Given the description of an element on the screen output the (x, y) to click on. 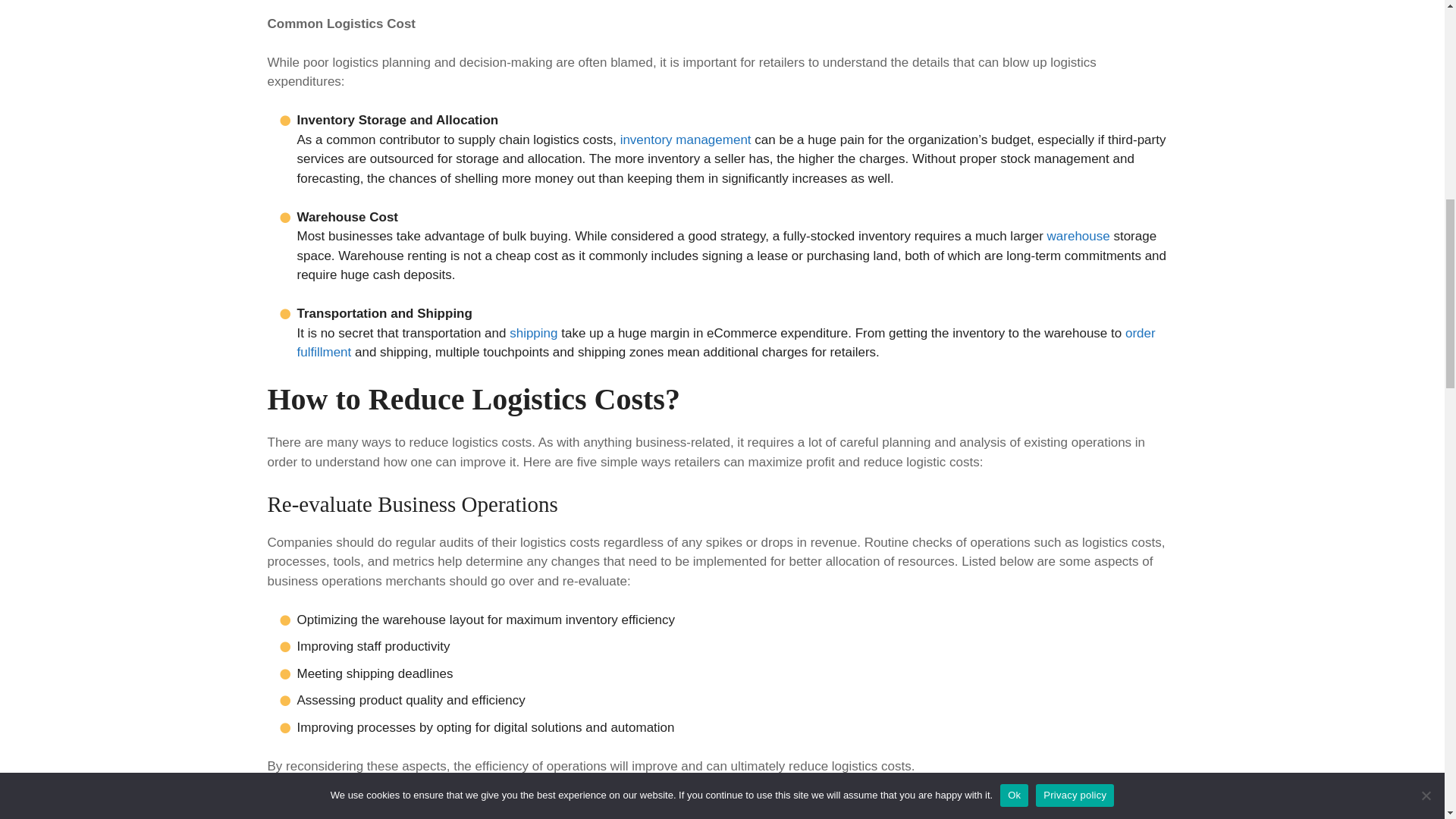
warehouse (1077, 236)
inventory management (685, 139)
shipping (533, 332)
order fulfillment (726, 342)
